Given the description of an element on the screen output the (x, y) to click on. 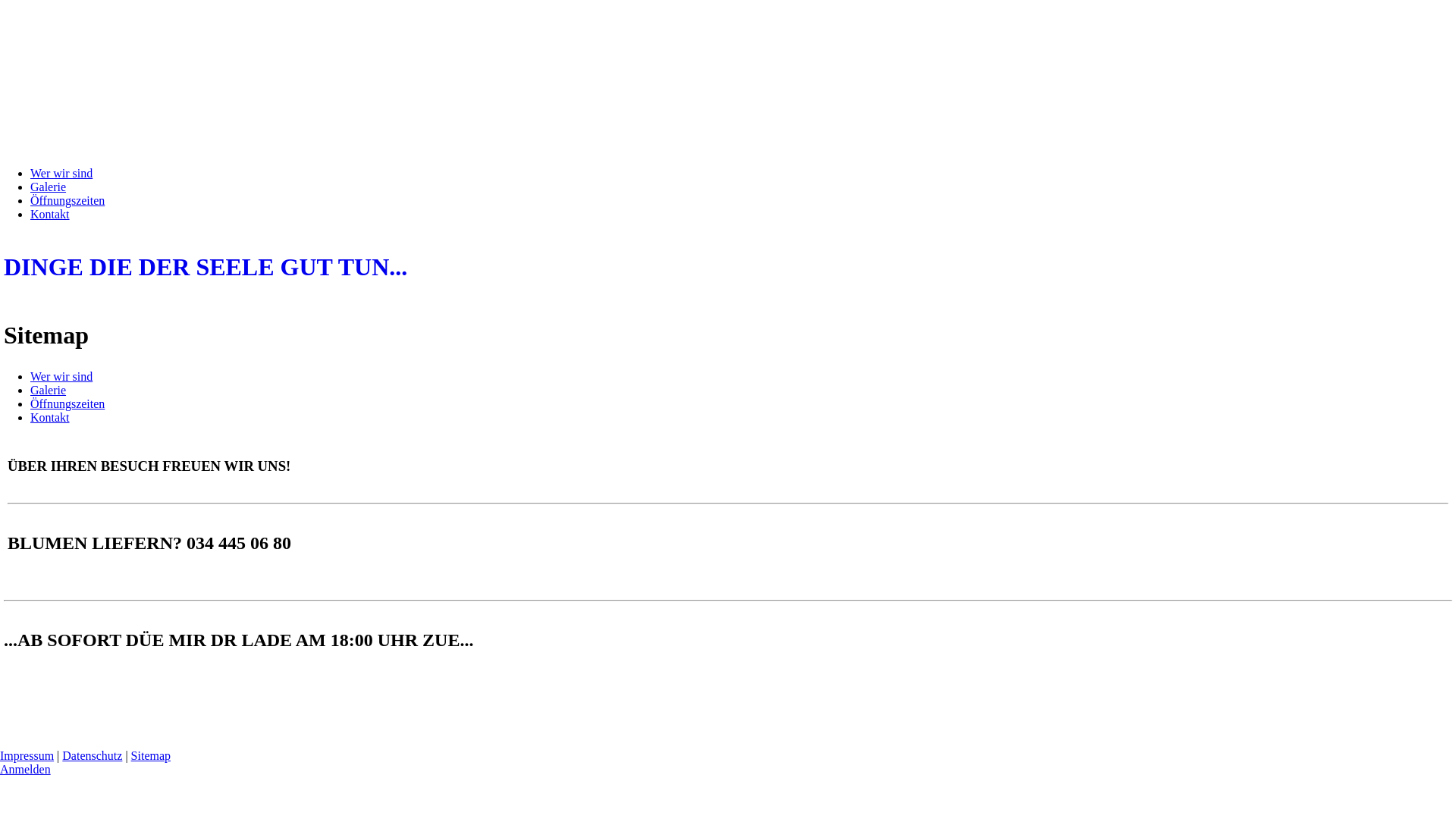
Galerie Element type: text (47, 389)
Kontakt Element type: text (49, 417)
Wer wir sind Element type: text (61, 376)
Impressum Element type: text (26, 755)
Kontakt Element type: text (49, 213)
Anmelden Element type: text (25, 768)
Wer wir sind Element type: text (61, 172)
Galerie Element type: text (47, 186)
Datenschutz Element type: text (92, 755)
DINGE DIE DER SEELE GUT TUN... Element type: text (727, 267)
Sitemap Element type: text (150, 755)
